Given the description of an element on the screen output the (x, y) to click on. 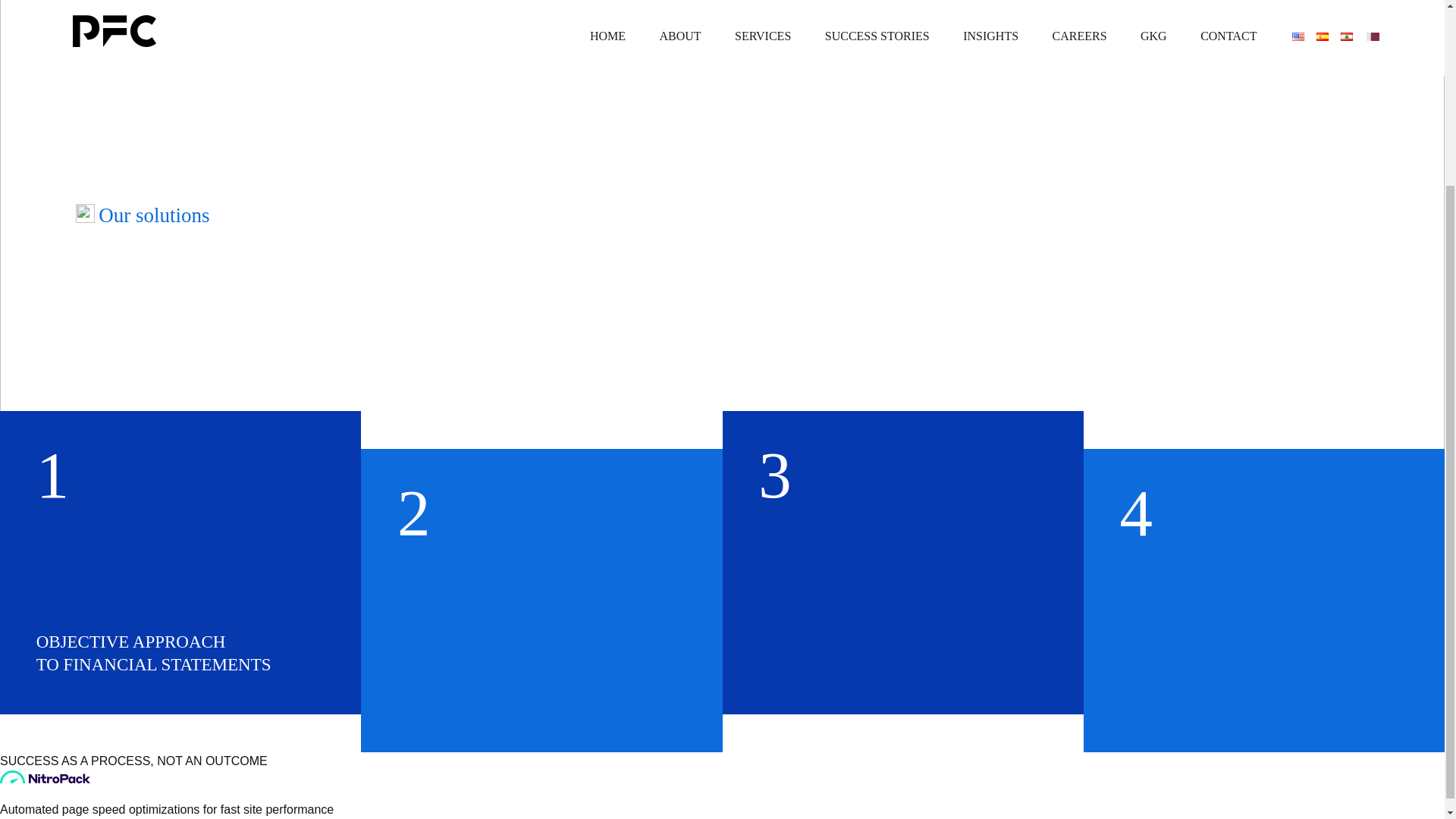
Our solutions (151, 215)
